Given the description of an element on the screen output the (x, y) to click on. 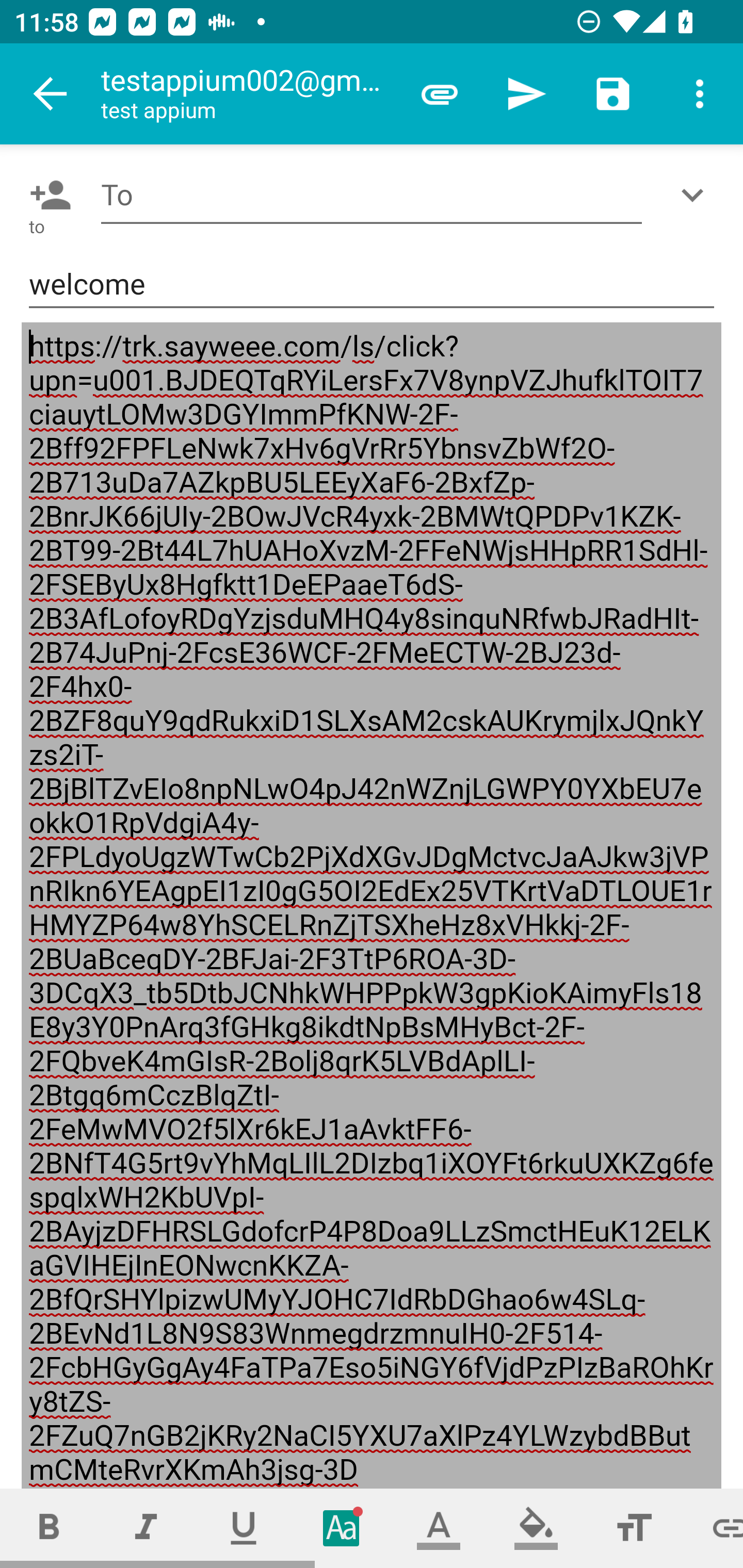
Navigate up (50, 93)
testappium002@gmail.com test appium (248, 93)
Attach (439, 93)
Send (525, 93)
Save (612, 93)
More options (699, 93)
Pick contact: To (46, 195)
Show/Add CC/BCC (696, 195)
To (371, 195)
welcome (371, 284)
Bold (48, 1528)
Italic (145, 1528)
Underline (243, 1528)
Typeface (font) (341, 1528)
Text color (438, 1528)
Fill color (536, 1528)
Font size (633, 1528)
